Given the description of an element on the screen output the (x, y) to click on. 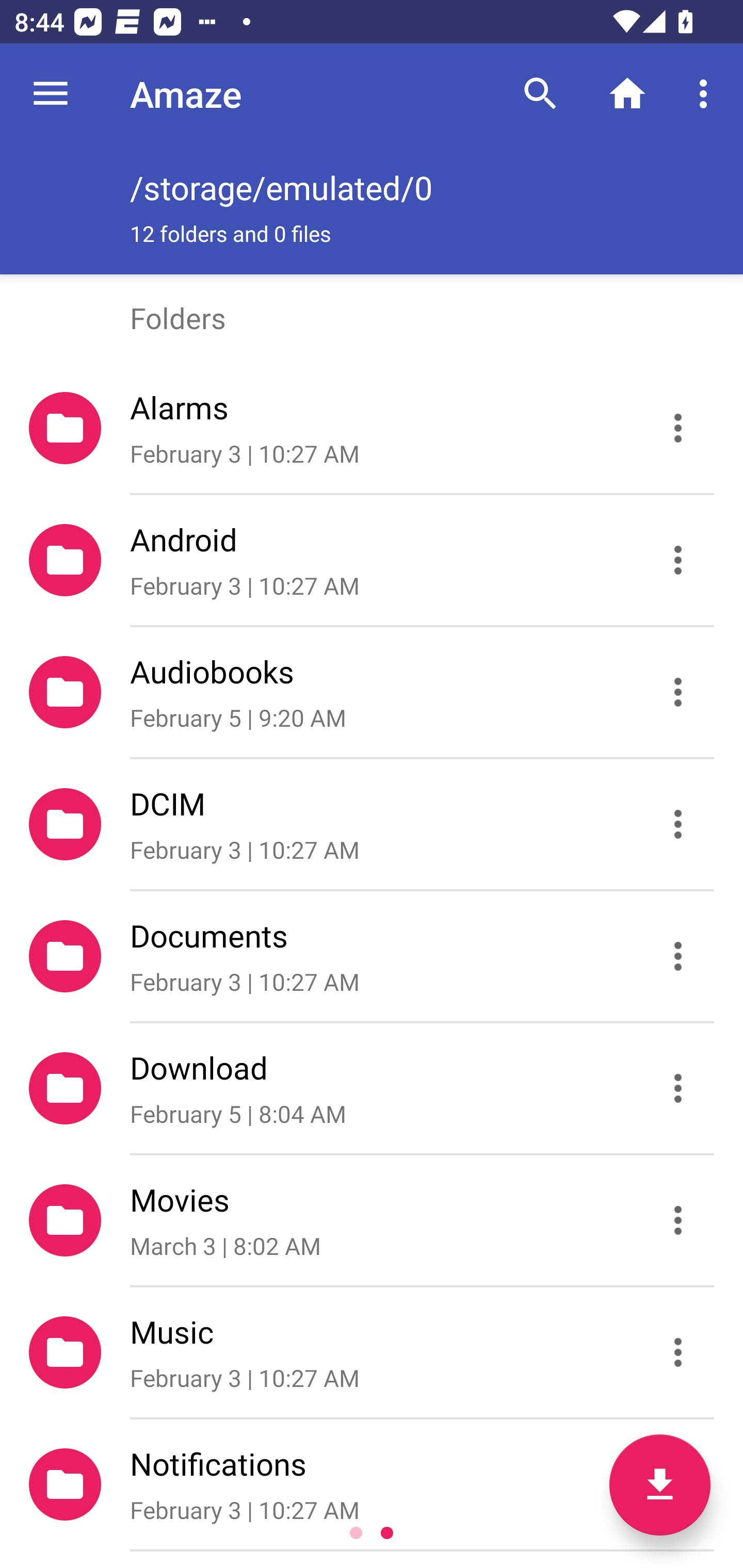
Navigate up (50, 93)
Search (540, 93)
Home (626, 93)
More options (706, 93)
Alarms February 3 | 10:27 AM (371, 427)
Android February 3 | 10:27 AM (371, 560)
Audiobooks February 5 | 9:20 AM (371, 692)
DCIM February 3 | 10:27 AM (371, 823)
Documents February 3 | 10:27 AM (371, 955)
Download February 5 | 8:04 AM (371, 1088)
Movies March 3 | 8:02 AM (371, 1220)
Music February 3 | 10:27 AM (371, 1352)
Notifications February 3 | 10:27 AM (371, 1484)
